Given the description of an element on the screen output the (x, y) to click on. 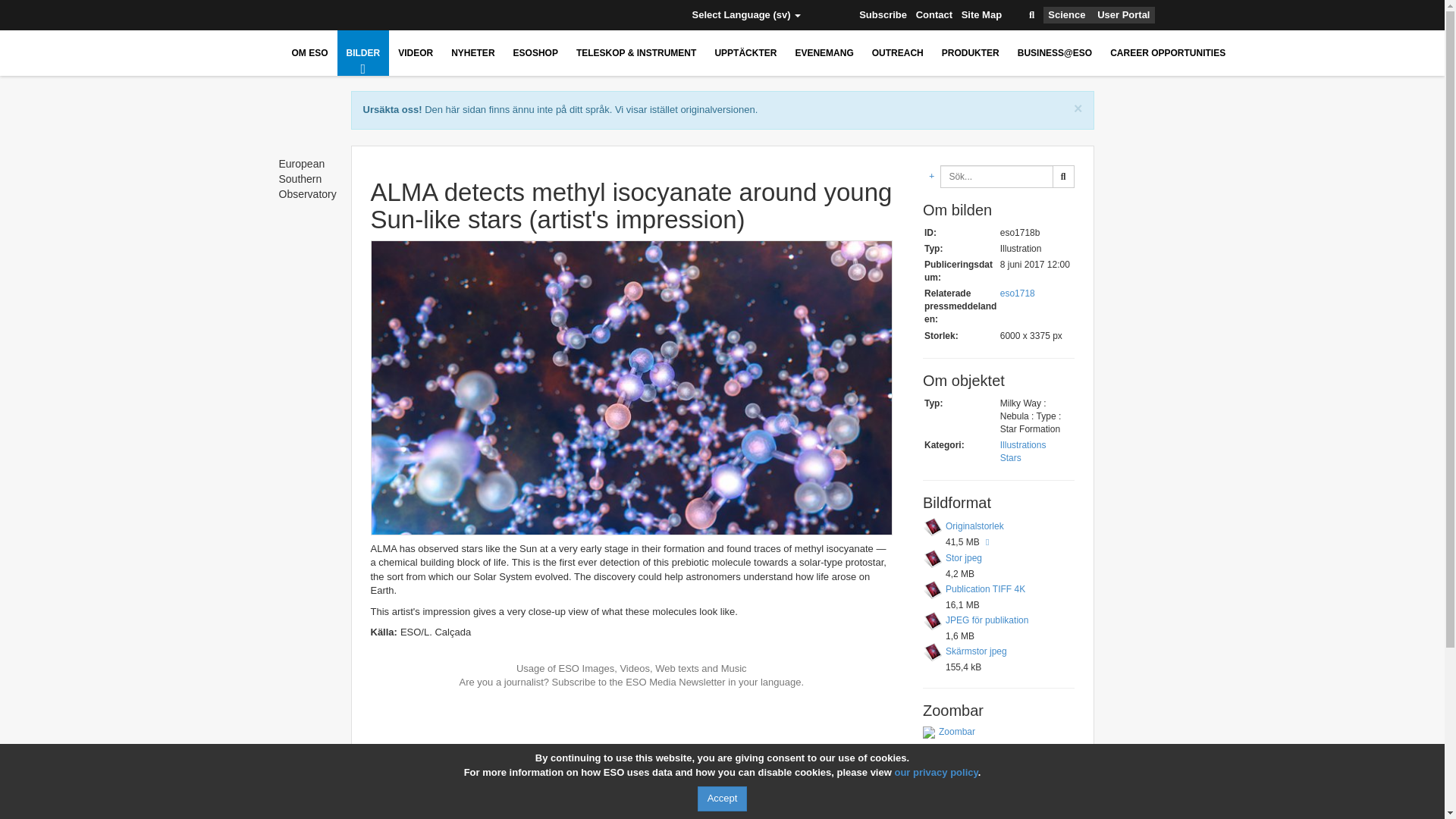
Belgium (322, 15)
Ireland (458, 15)
Austria (298, 15)
Finland (390, 15)
Spain (570, 15)
Science (1066, 14)
Site Map (981, 15)
Contact (933, 15)
Sweden (593, 15)
Subscribe (883, 15)
Germany (435, 15)
Italy (481, 15)
Netherlands (503, 15)
Poland (525, 15)
France (413, 15)
